Given the description of an element on the screen output the (x, y) to click on. 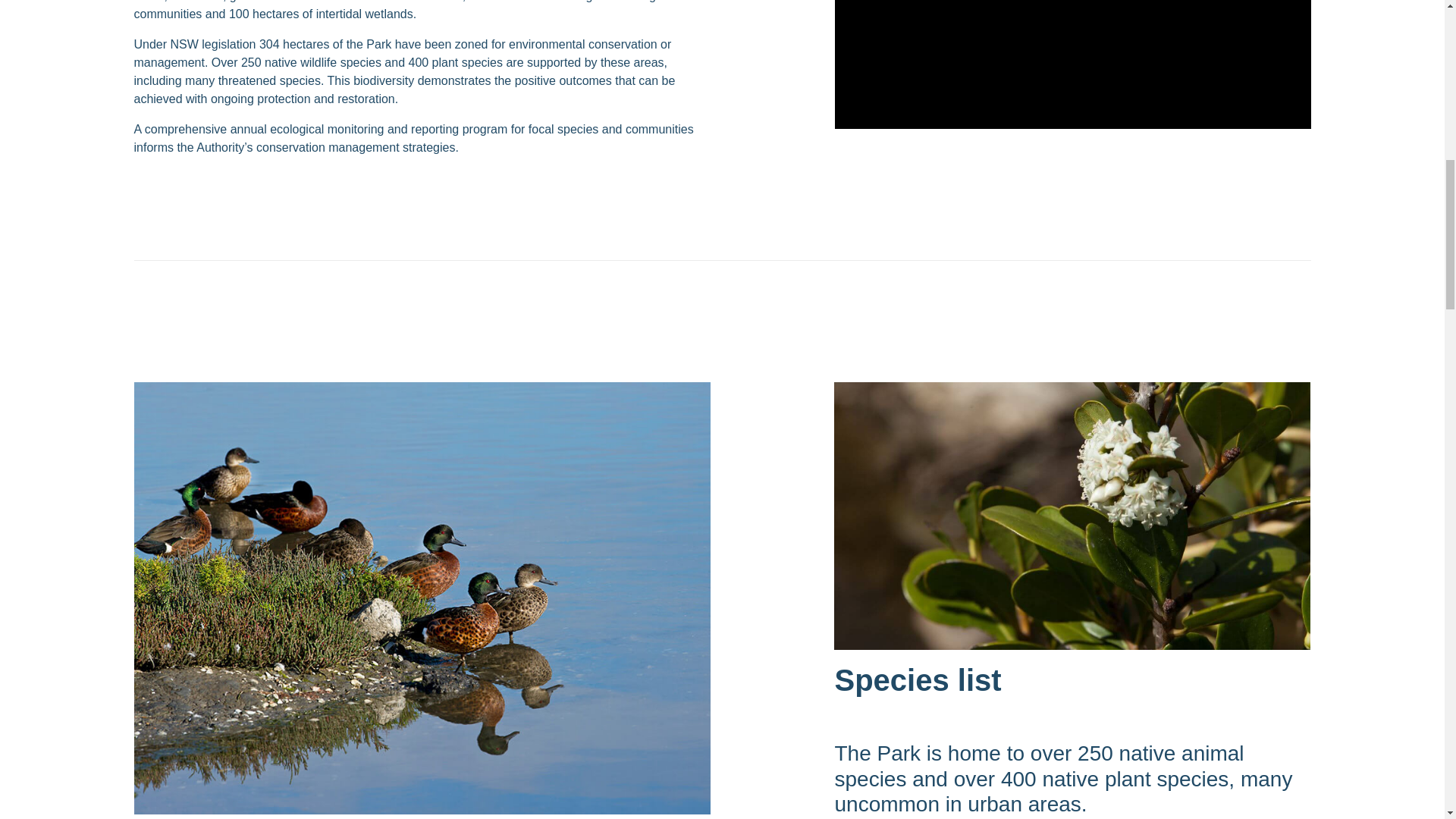
Learn more (1072, 516)
Life Undercover (1072, 64)
